Given the description of an element on the screen output the (x, y) to click on. 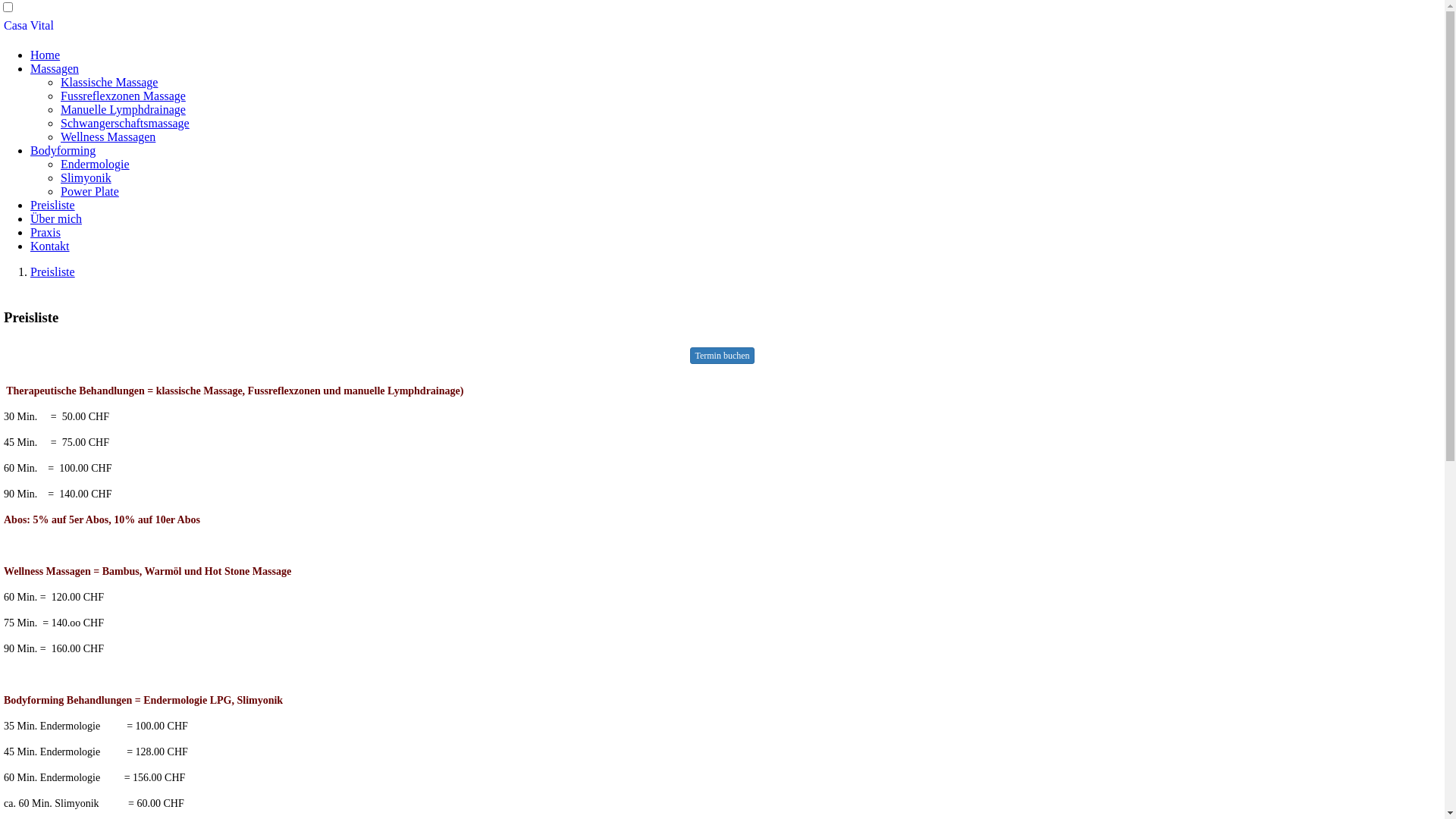
Massagen Element type: text (54, 68)
Slimyonik Element type: text (85, 177)
Manuelle Lymphdrainage Element type: text (122, 109)
Power Plate Element type: text (89, 191)
Fussreflexzonen Massage Element type: text (122, 95)
Praxis Element type: text (45, 231)
Endermologie Element type: text (94, 163)
Casa Vital Element type: text (721, 25)
Klassische Massage Element type: text (108, 81)
Wellness Massagen Element type: text (107, 136)
Home Element type: text (44, 54)
Kontakt Element type: text (49, 245)
Bodyforming Element type: text (62, 150)
Preisliste Element type: text (52, 204)
Preisliste Element type: text (52, 271)
Schwangerschaftsmassage Element type: text (124, 122)
Termin buchen Element type: text (721, 355)
